Given the description of an element on the screen output the (x, y) to click on. 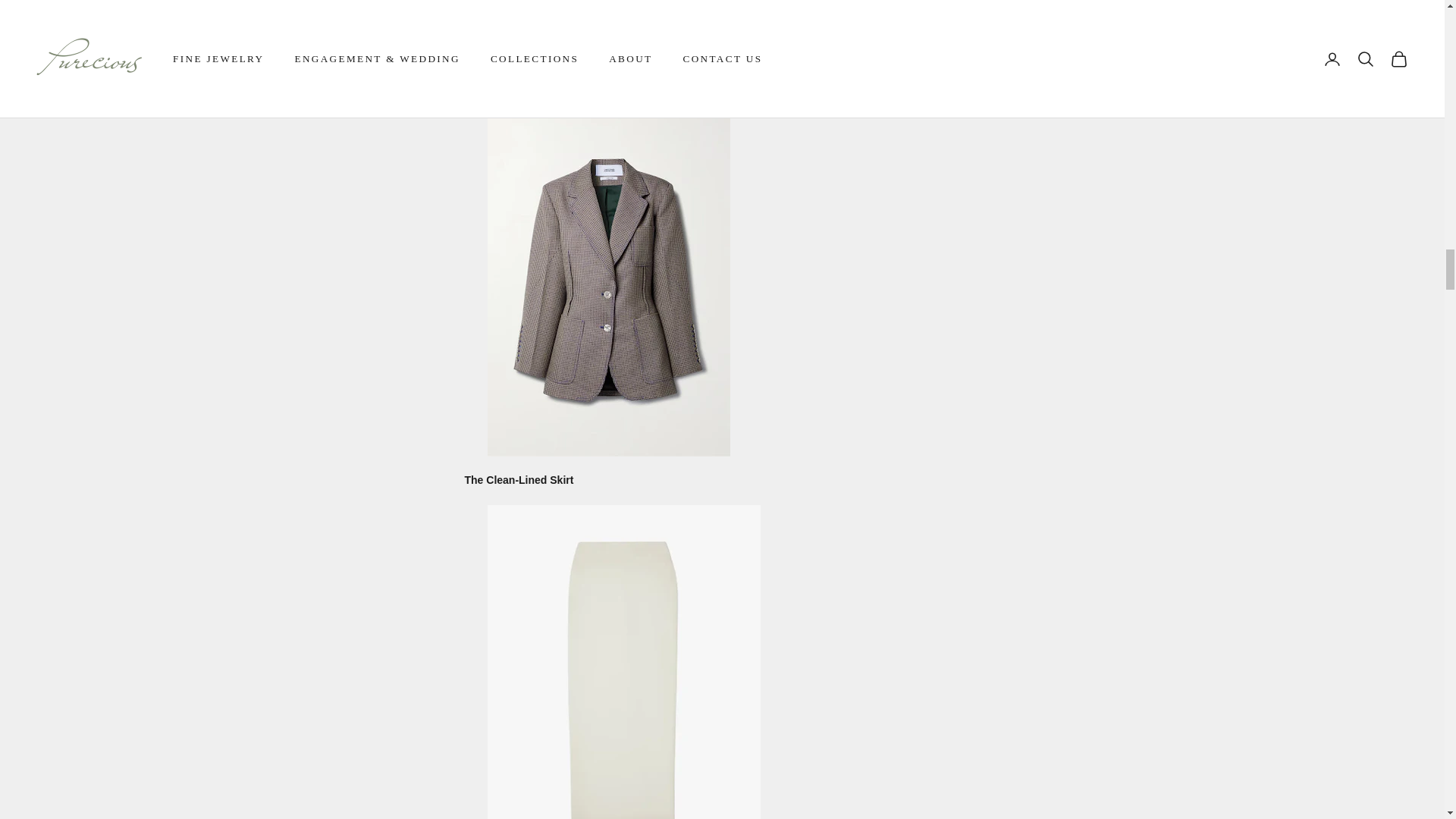
Wool Maxi Skirt (623, 685)
Checked Woven Blazer (607, 273)
